Given the description of an element on the screen output the (x, y) to click on. 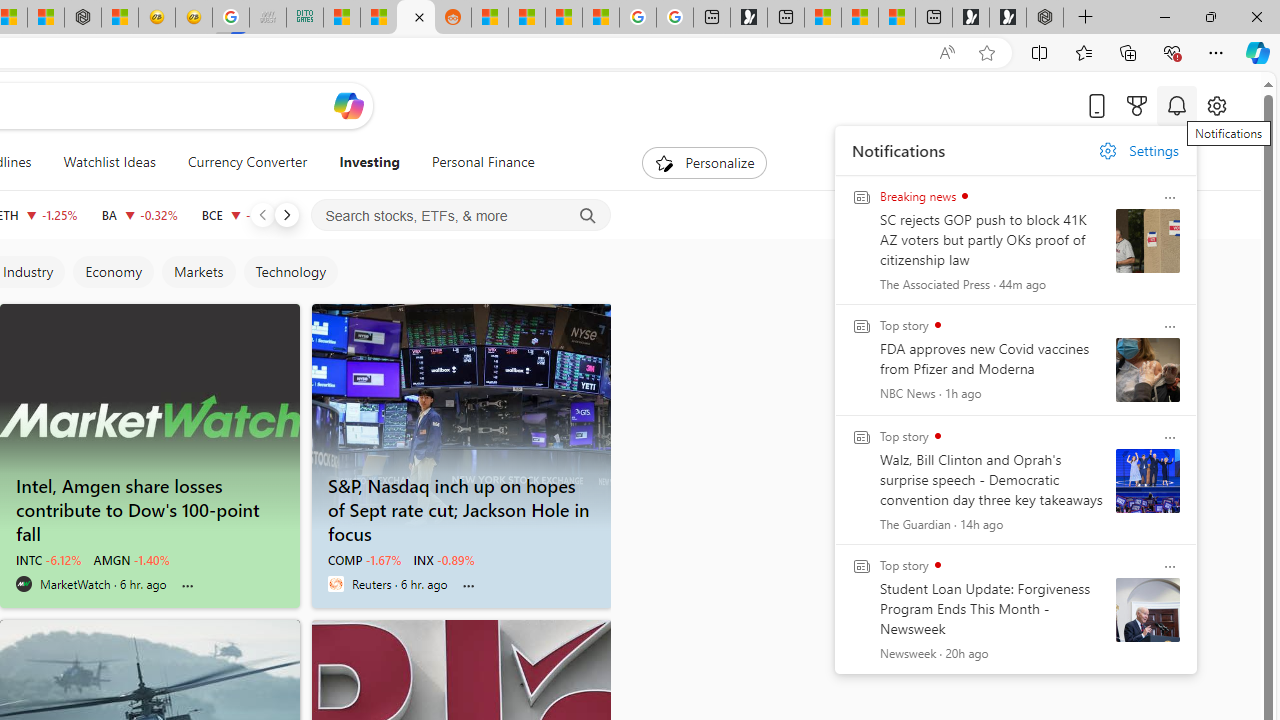
AMGN -1.40% (131, 560)
New tab (934, 17)
Open Copilot (347, 105)
Economy (112, 272)
Navy Quest (267, 17)
Personal Finance (483, 162)
Microsoft rewards (1137, 105)
Technology (290, 272)
Open Copilot (347, 105)
